Given the description of an element on the screen output the (x, y) to click on. 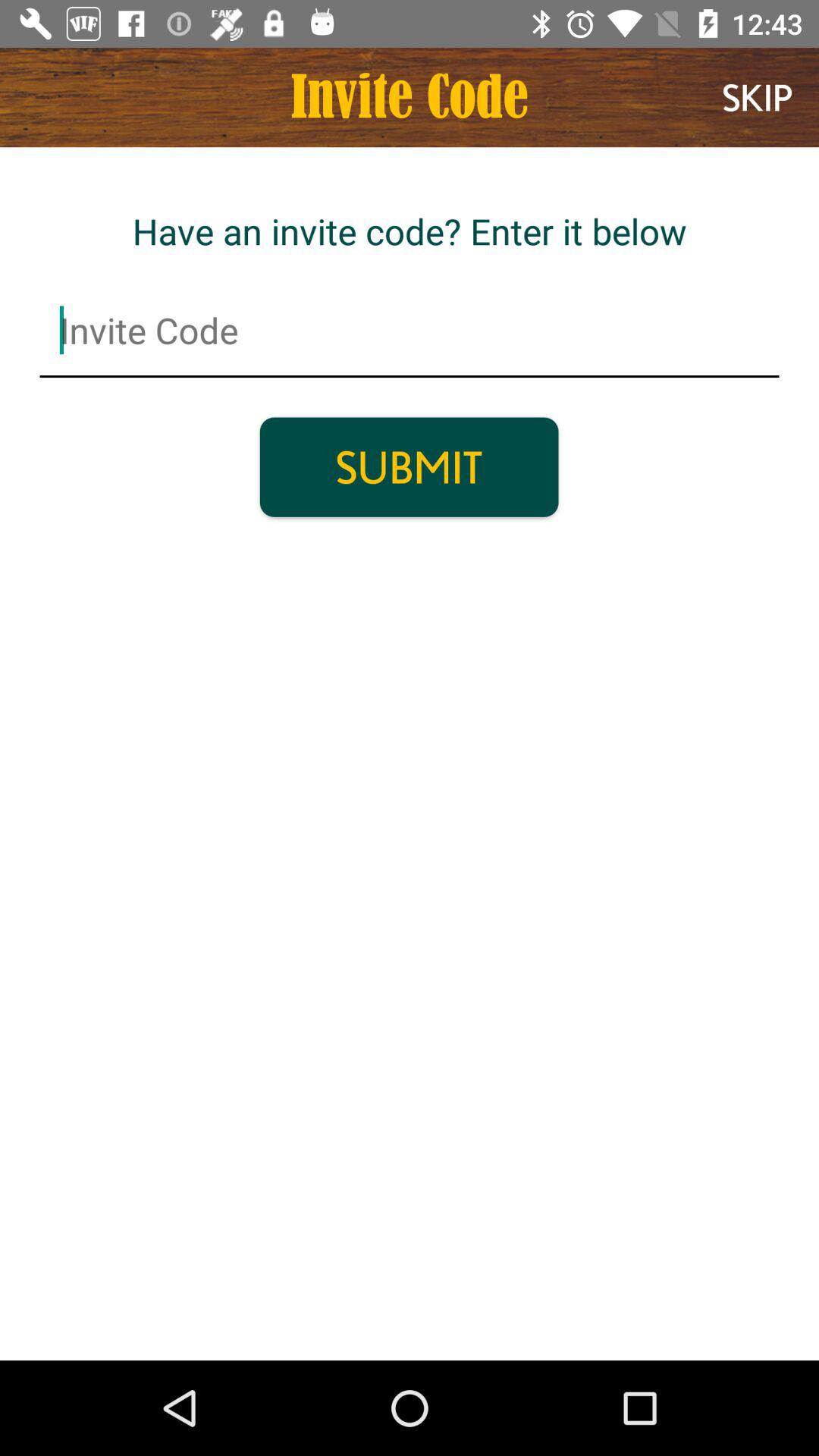
launch submit icon (408, 466)
